Given the description of an element on the screen output the (x, y) to click on. 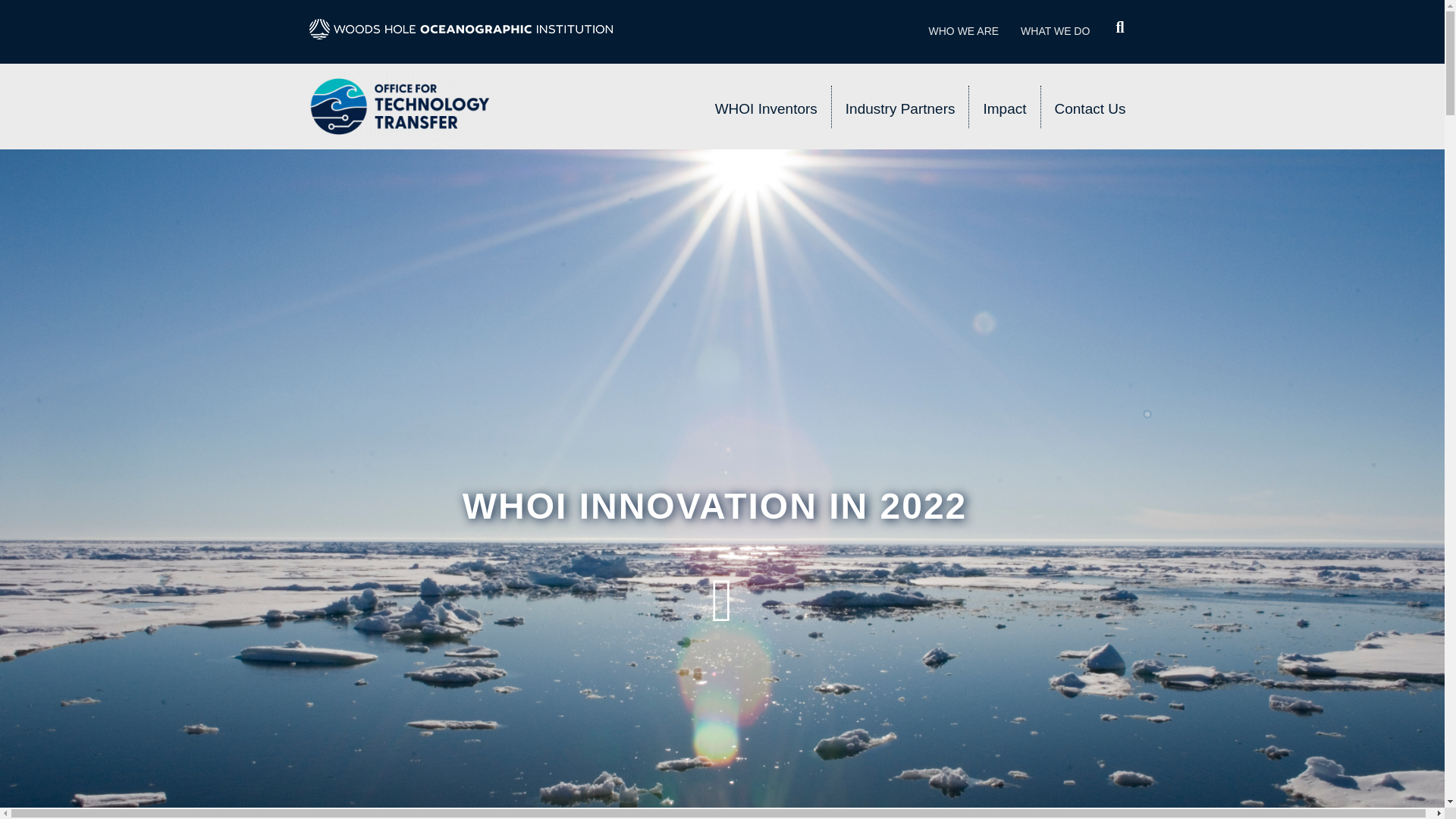
WHAT WE DO (1055, 31)
Impact (1004, 106)
WHOI Inventors (766, 106)
Contact Us (1090, 106)
Industry Partners (900, 106)
WHO WE ARE (964, 31)
